Given the description of an element on the screen output the (x, y) to click on. 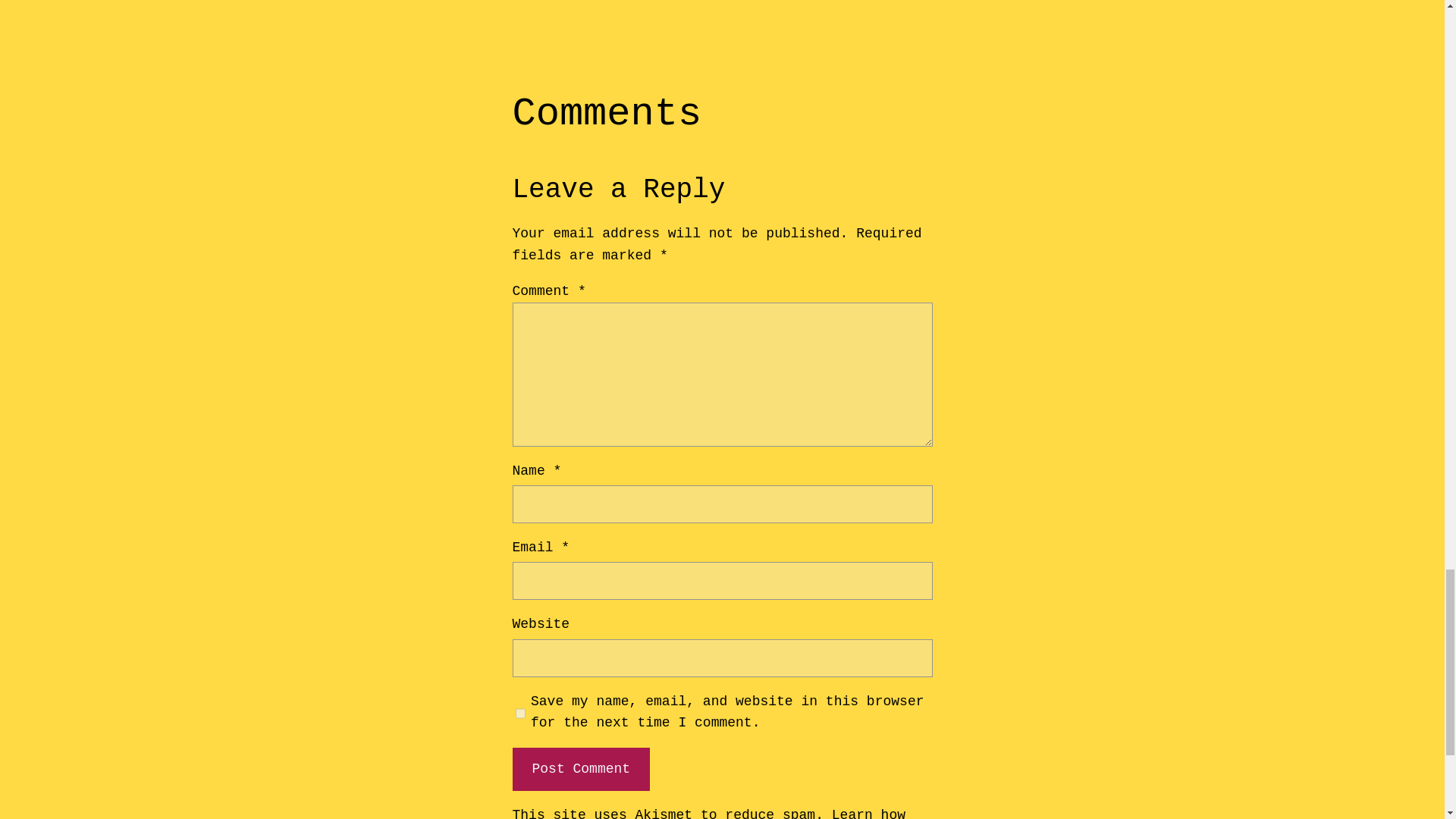
Post Comment (581, 769)
Post Comment (581, 769)
Learn how your comment data is processed (708, 813)
